Given the description of an element on the screen output the (x, y) to click on. 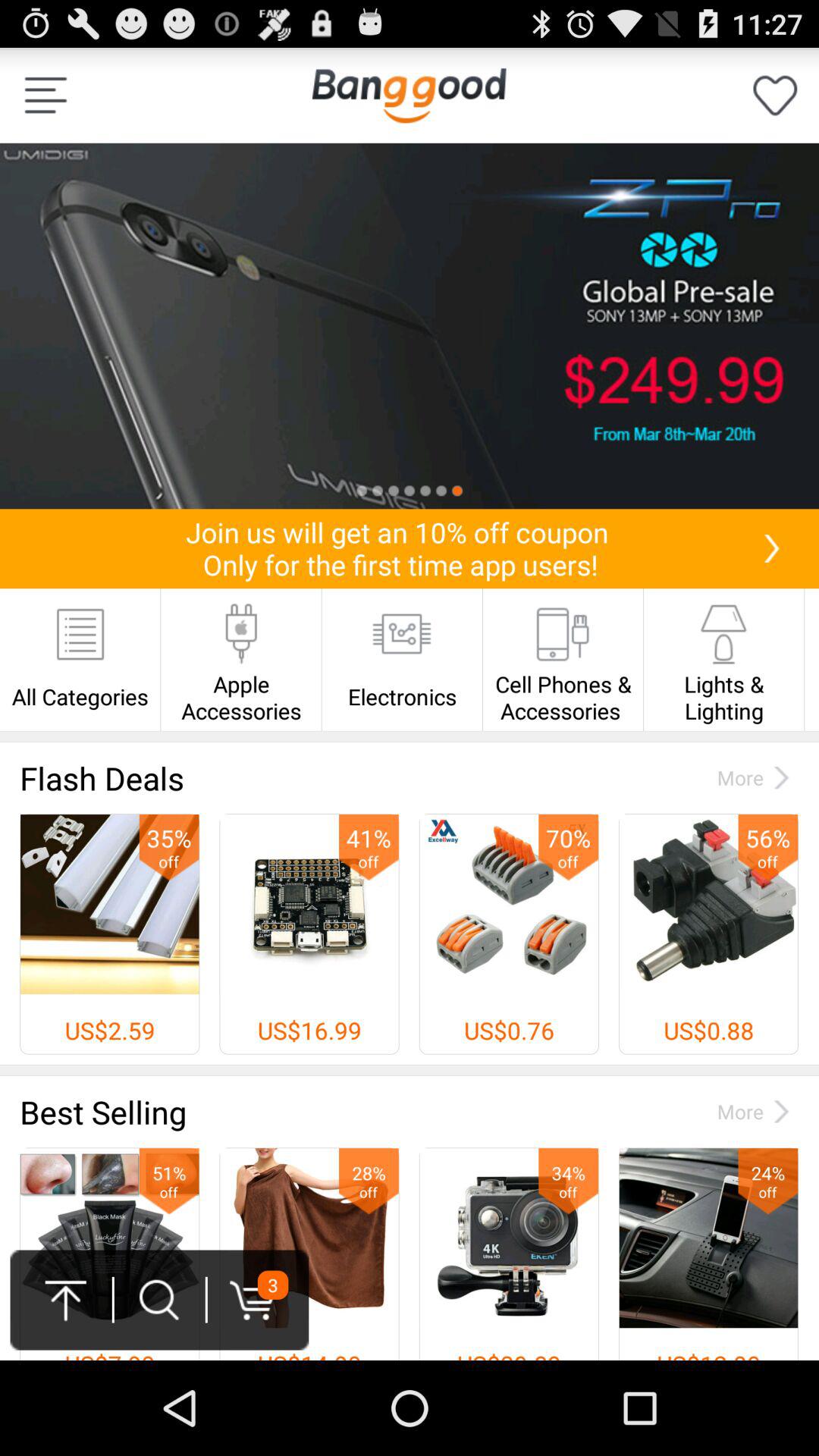
go to bang good home page (409, 95)
